Given the description of an element on the screen output the (x, y) to click on. 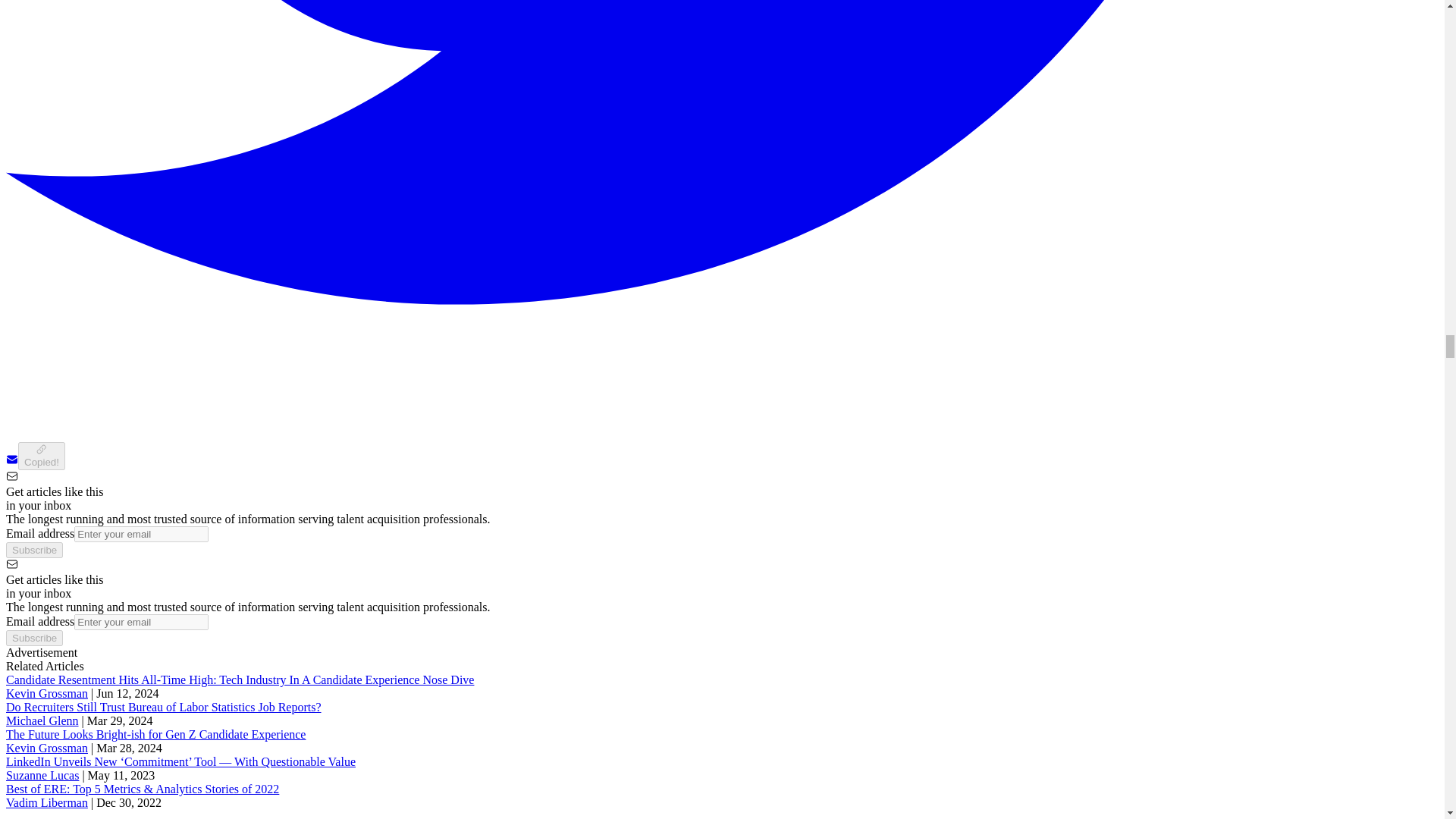
Copied! (41, 456)
The Future Looks Bright-ish for Gen Z Candidate Experience (155, 734)
Michael Glenn (41, 720)
Subscribe (33, 549)
Kevin Grossman (46, 693)
Kevin Grossman (46, 748)
Subscribe (33, 637)
